Given the description of an element on the screen output the (x, y) to click on. 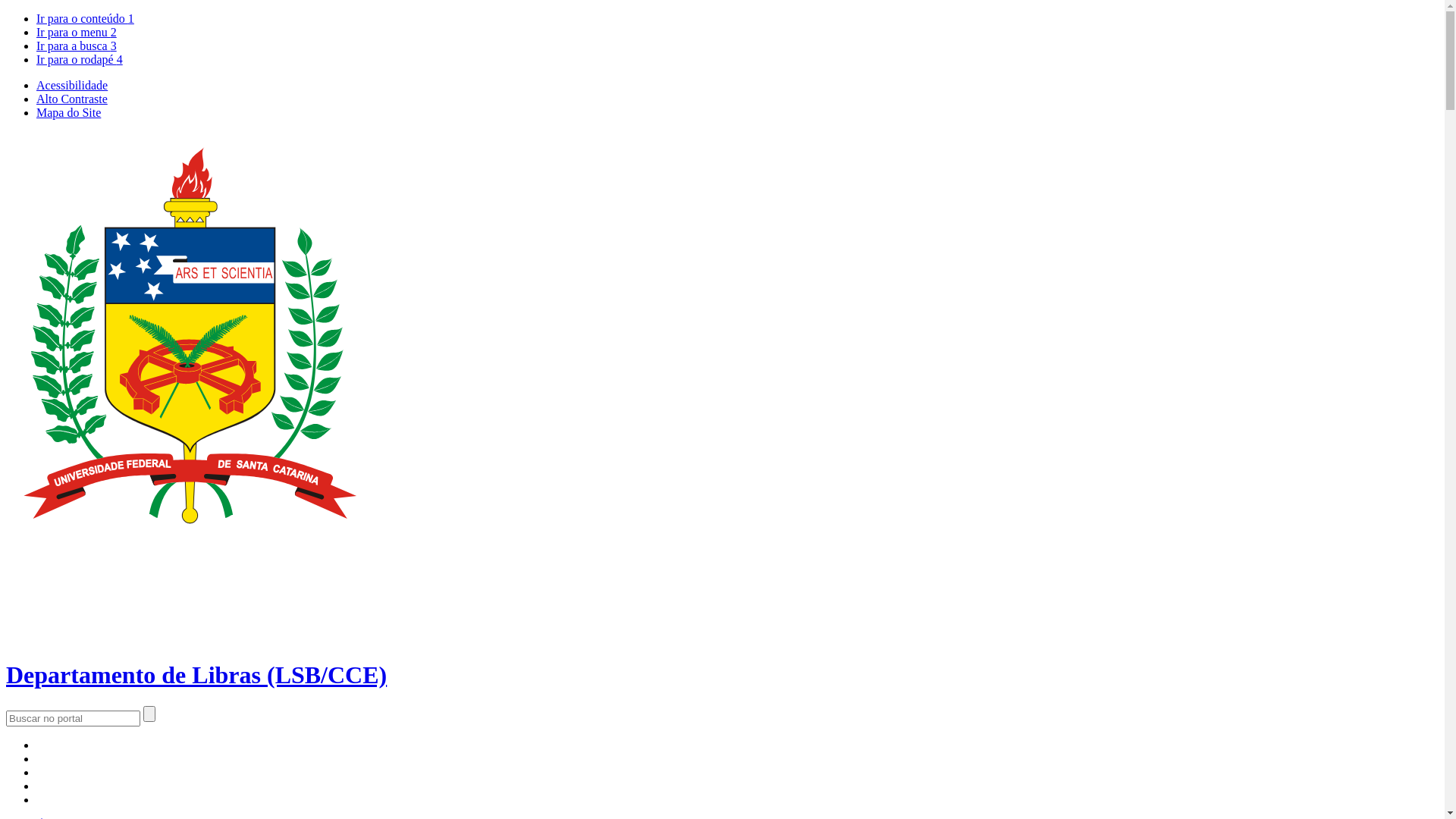
Acessibilidade Element type: text (71, 84)
Ir para o menu 2 Element type: text (76, 31)
Alto Contraste Element type: text (71, 98)
Departamento de Libras (LSB/CCE) Element type: text (722, 660)
Mapa do Site Element type: text (68, 112)
Ir para a busca 3 Element type: text (76, 45)
